Given the description of an element on the screen output the (x, y) to click on. 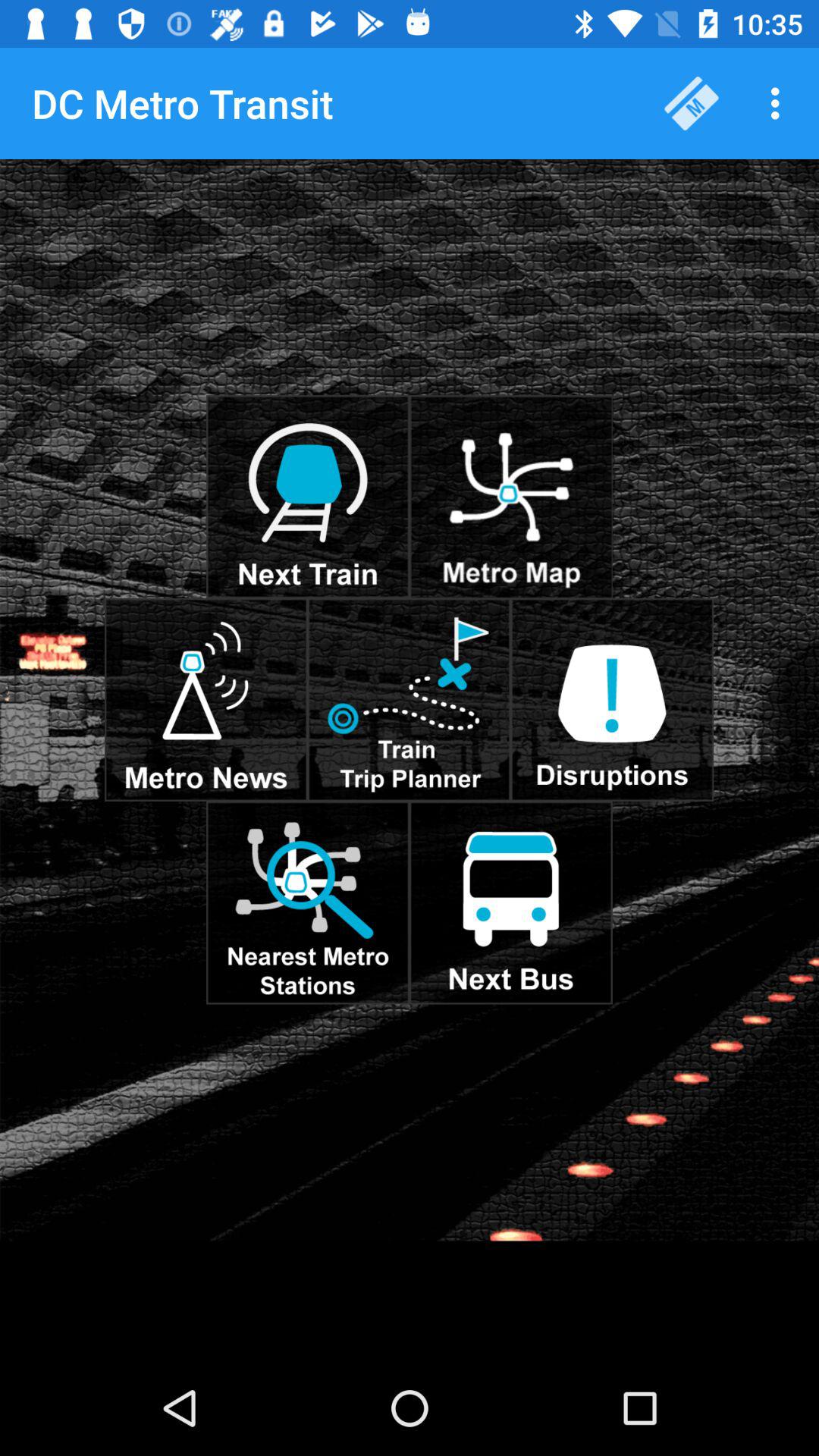
select metro news (205, 699)
